Given the description of an element on the screen output the (x, y) to click on. 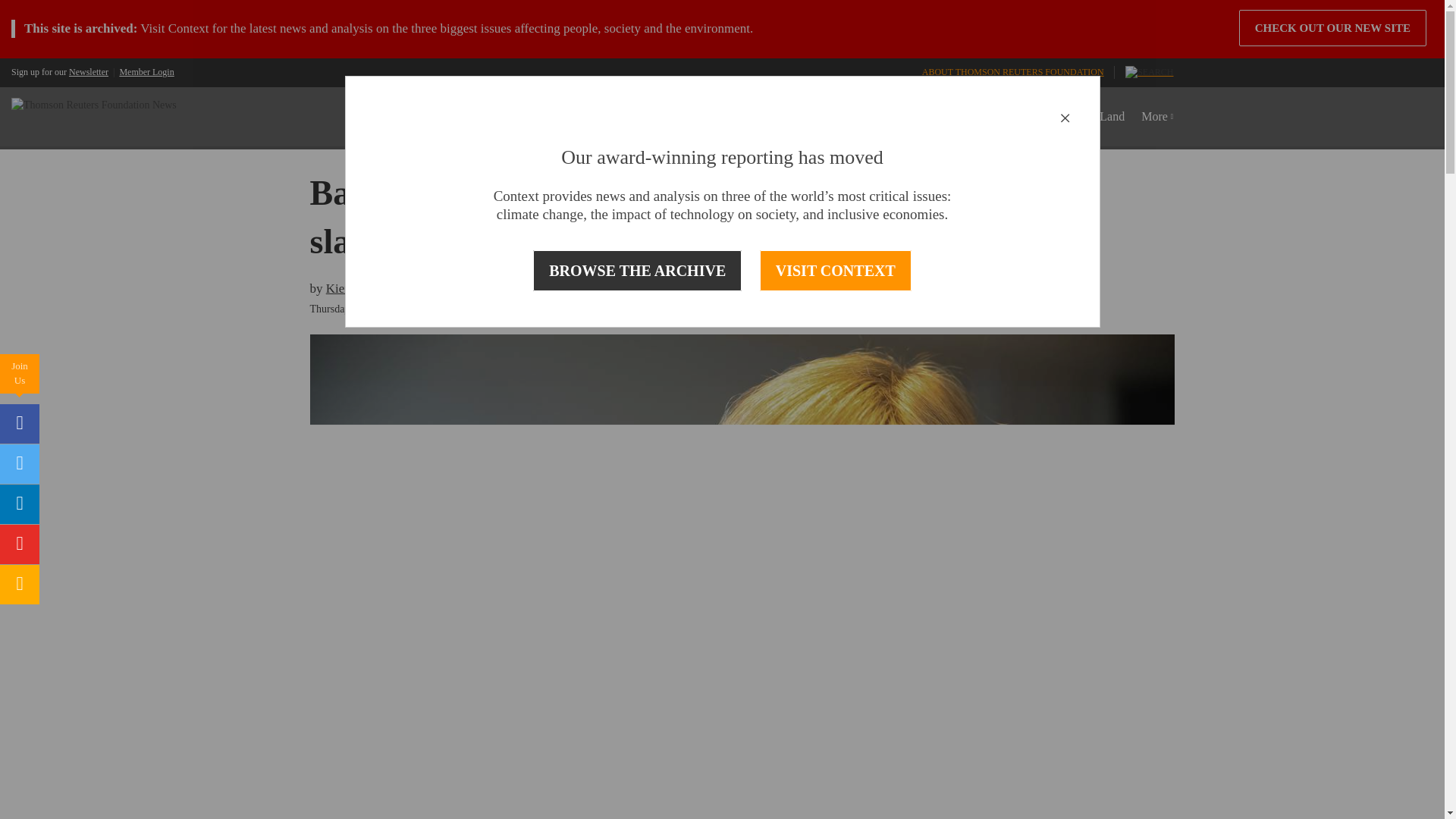
Technology (955, 117)
KieranG77 (448, 288)
ABOUT THOMSON REUTERS FOUNDATION (1012, 71)
Climate (821, 117)
VISIT CONTEXT (835, 270)
Women (711, 117)
Coronavirus (645, 117)
Context (188, 28)
Home (583, 117)
More (1157, 117)
